Given the description of an element on the screen output the (x, y) to click on. 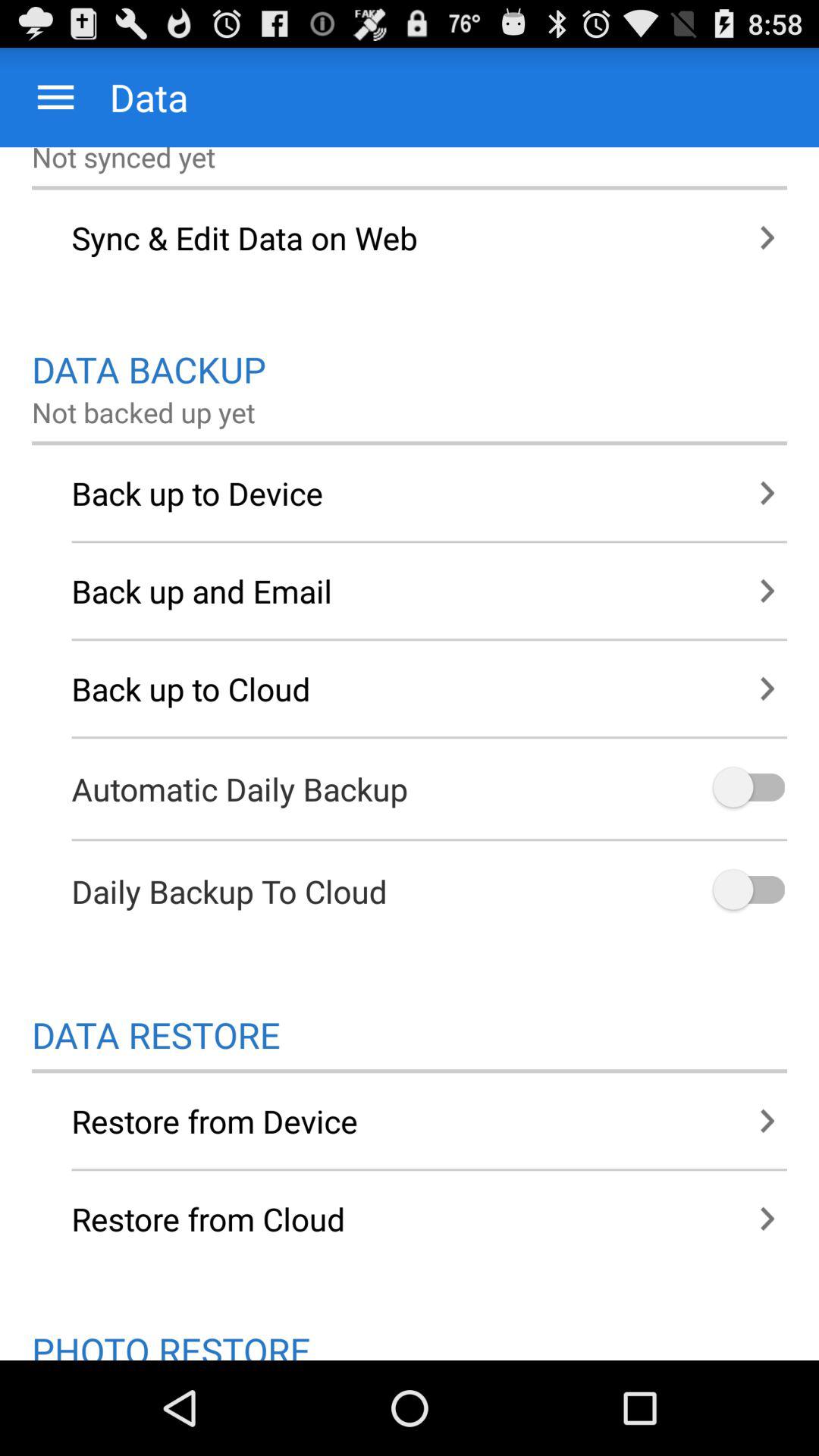
go to menu options (55, 97)
